Given the description of an element on the screen output the (x, y) to click on. 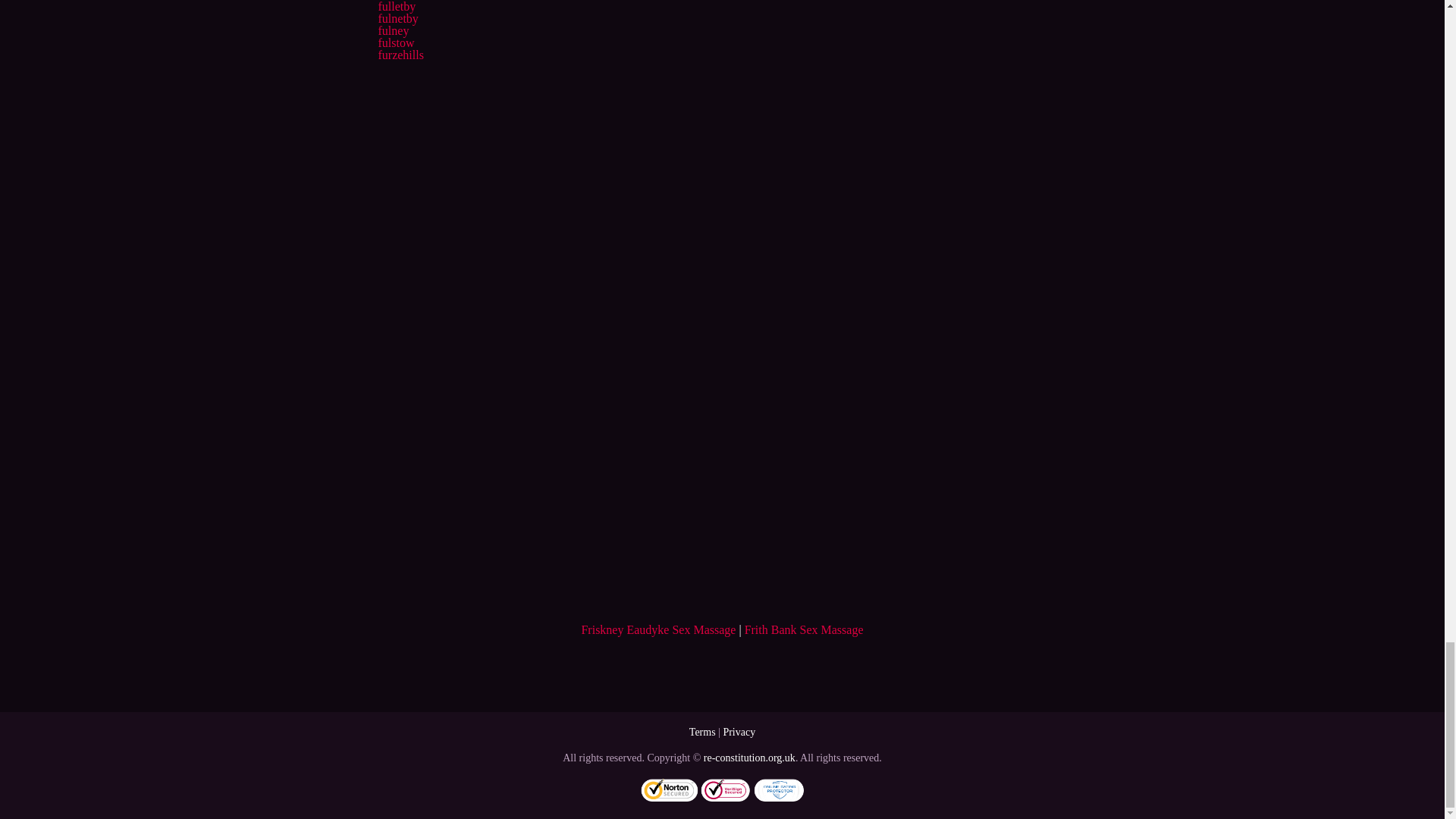
re-constitution.org.uk (748, 757)
Friskney Eaudyke Sex Massage (657, 629)
fulnetby (397, 18)
furzehills (400, 54)
Terms (702, 731)
Frith Bank Sex Massage (803, 629)
Privacy (738, 731)
fulletby (395, 6)
fulstow (395, 42)
fulney (393, 30)
Terms (702, 731)
Privacy (738, 731)
